Given the description of an element on the screen output the (x, y) to click on. 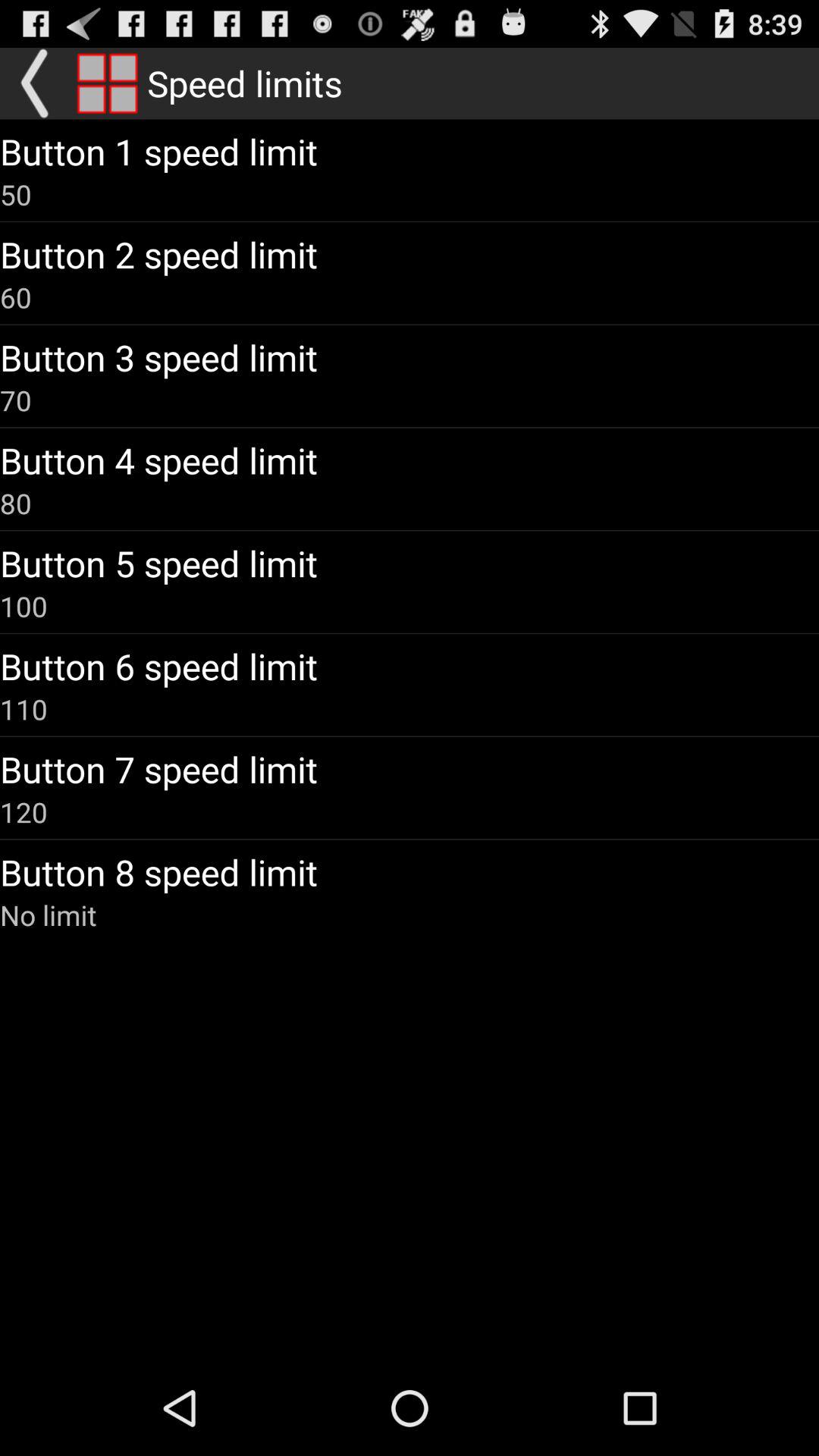
launch item above button 7 speed item (23, 709)
